Given the description of an element on the screen output the (x, y) to click on. 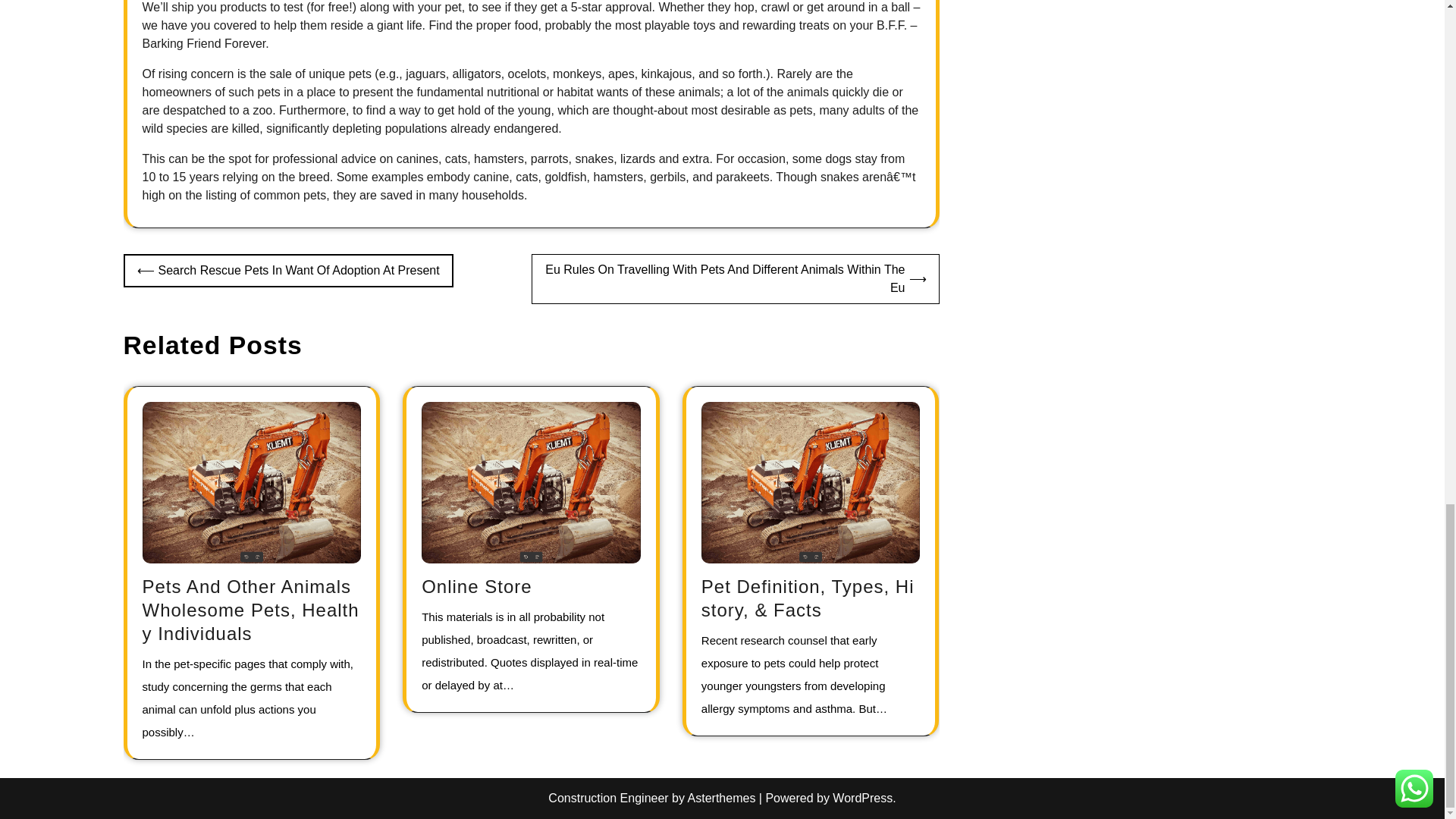
Online Store (476, 586)
Pets And Other Animals Wholesome Pets, Healthy Individuals (250, 609)
WordPress (862, 797)
Asterthemes (721, 797)
